Given the description of an element on the screen output the (x, y) to click on. 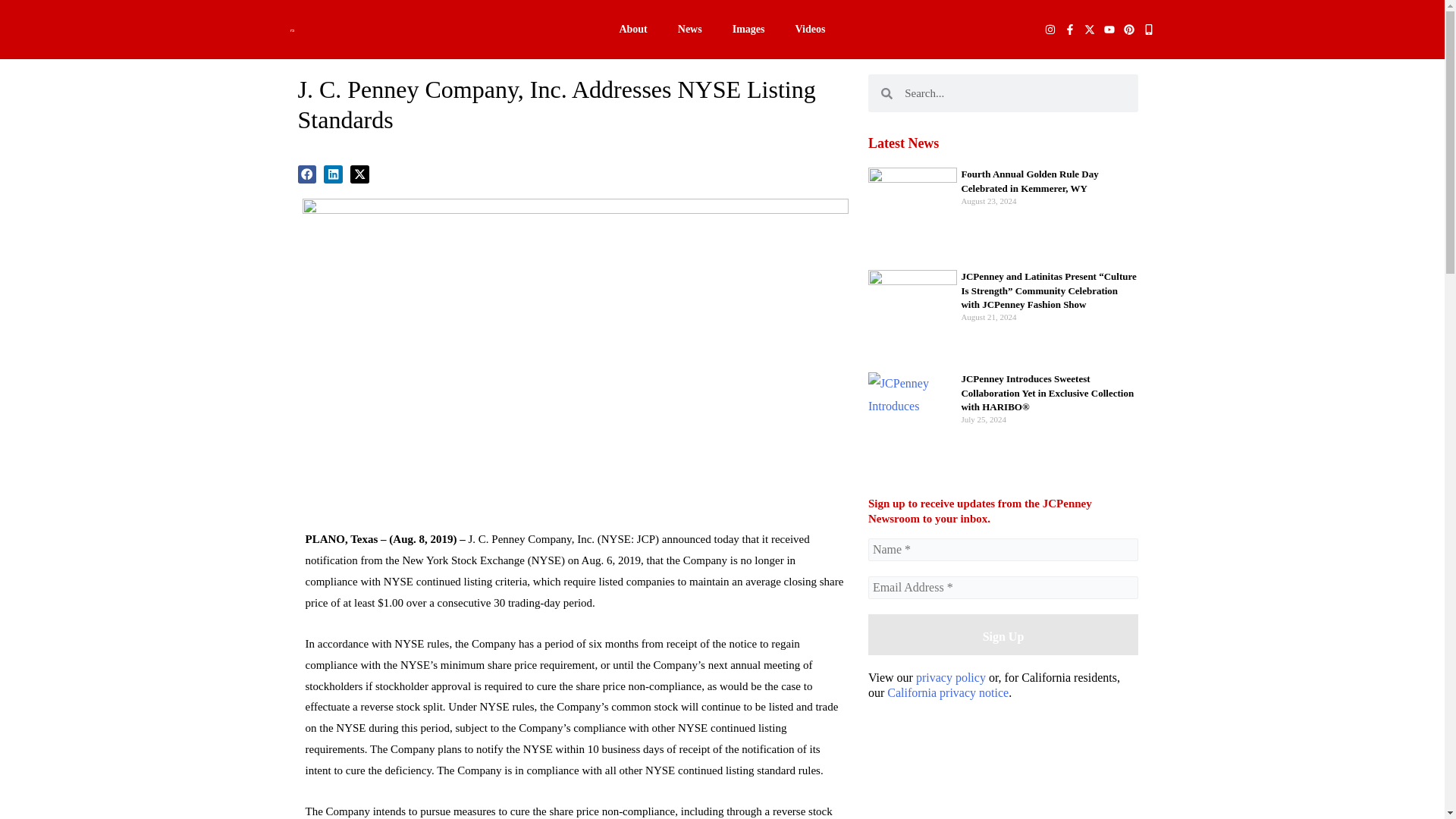
Email Address (1002, 587)
Instagram (1050, 29)
Fourth Annual Golden Rule Day Celebrated in Kemmerer, WY (1028, 180)
Facebook-f (1069, 29)
Videos (809, 29)
Pinterest (1129, 29)
X-twitter (1089, 29)
Name (1002, 549)
Sign Up (1002, 635)
News (689, 29)
